Given the description of an element on the screen output the (x, y) to click on. 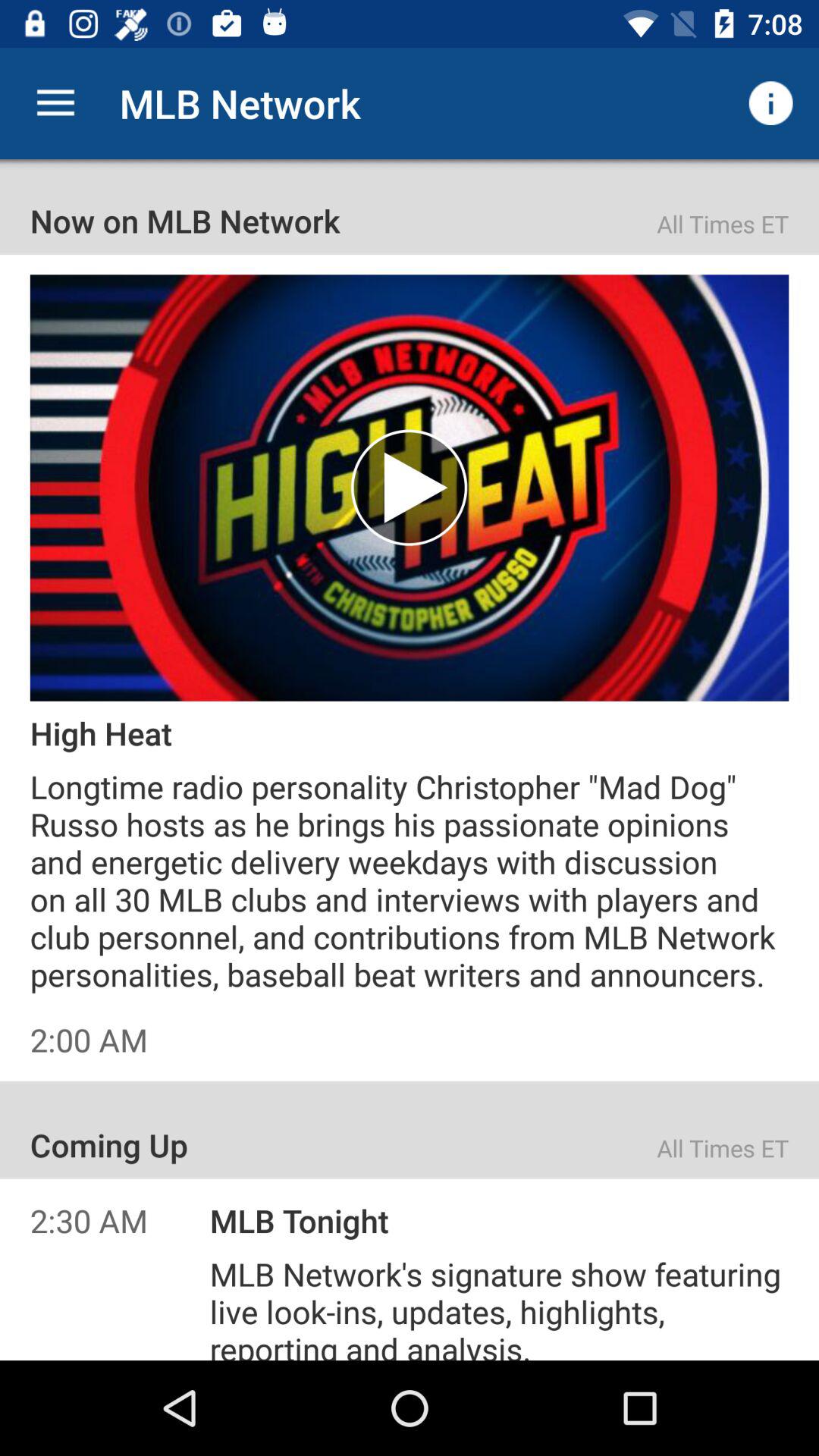
tap the icon to the left of mlb network icon (55, 103)
